Given the description of an element on the screen output the (x, y) to click on. 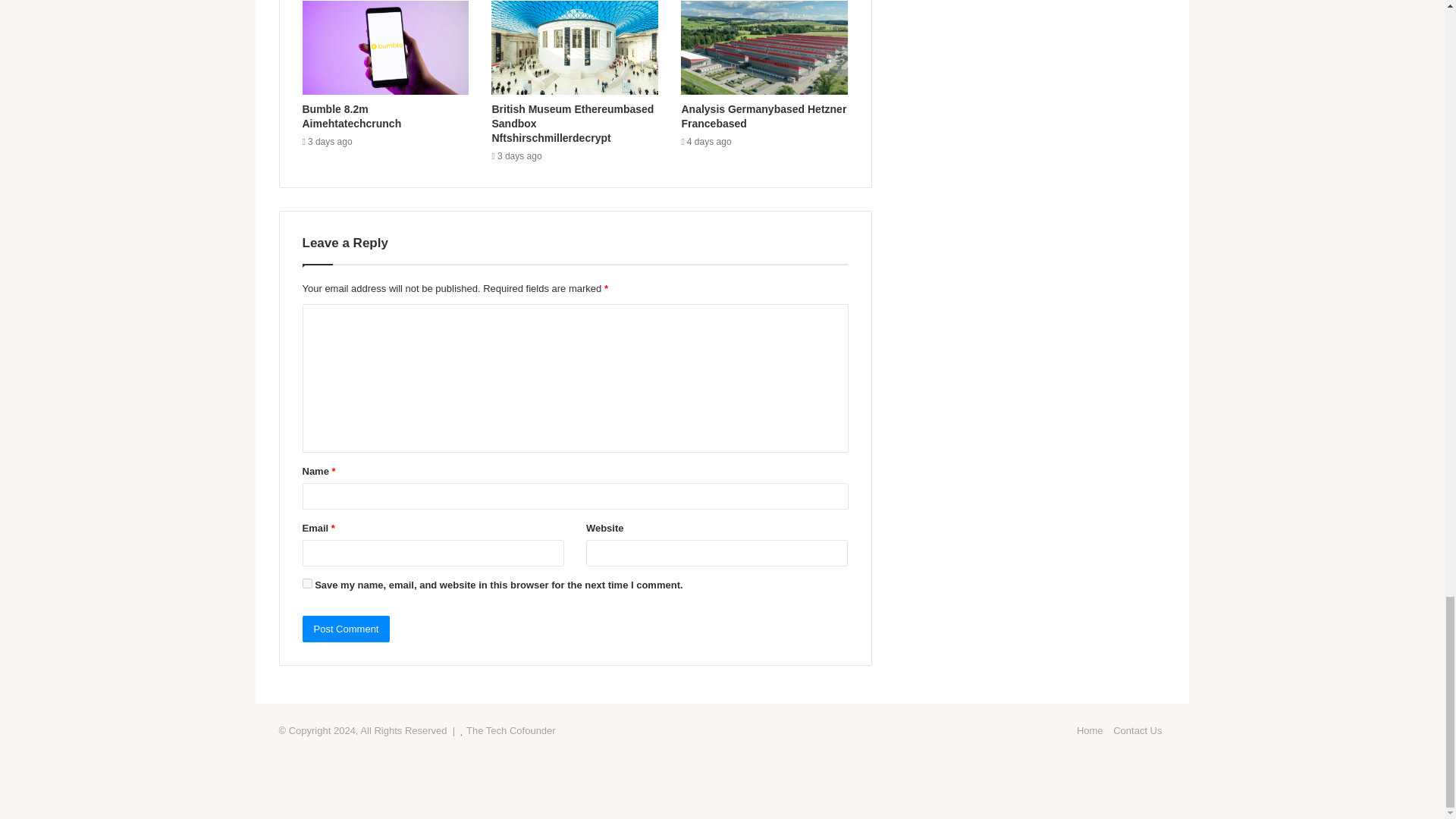
Post Comment (345, 628)
yes (306, 583)
